Given the description of an element on the screen output the (x, y) to click on. 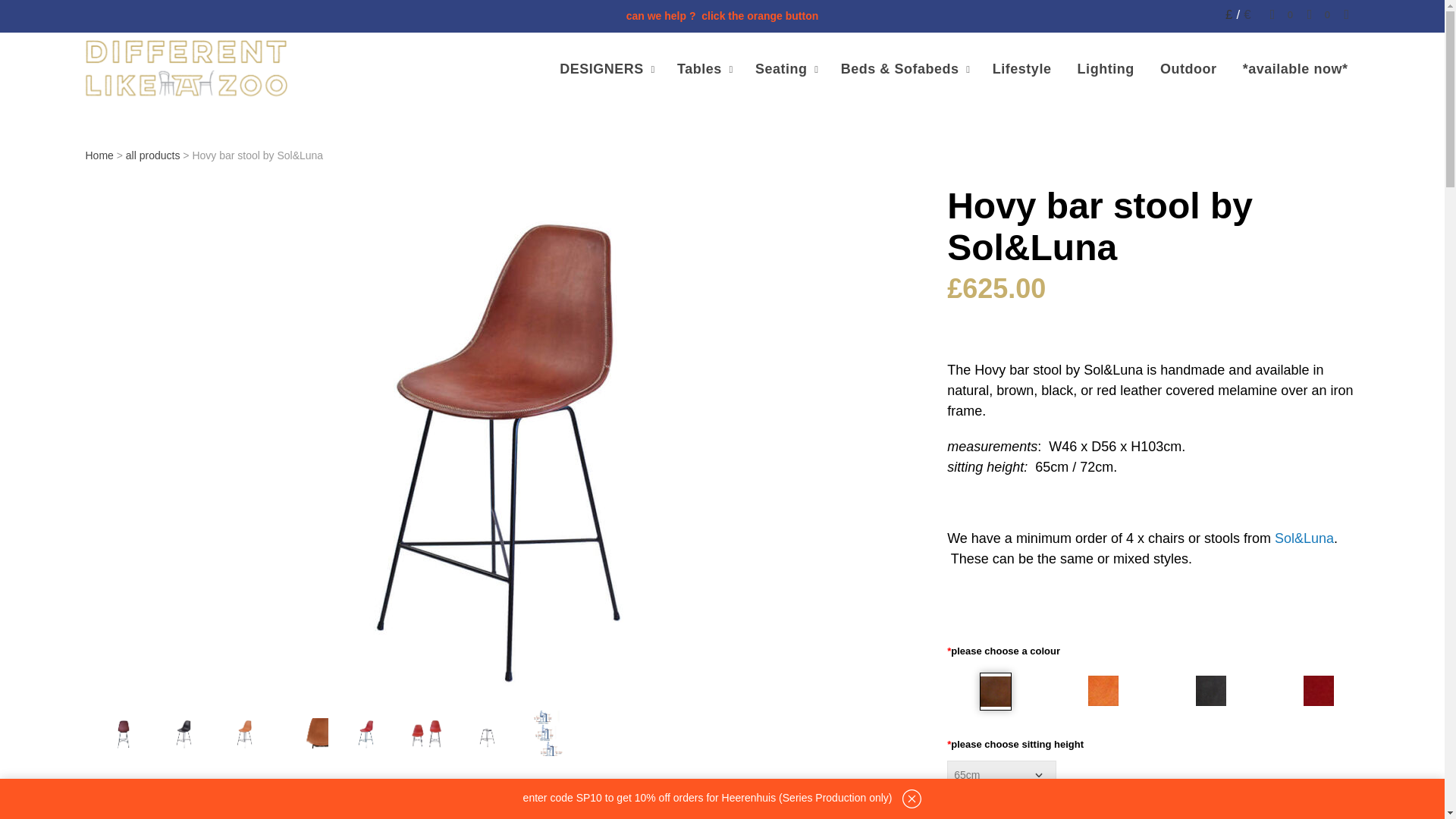
the natural selection for your home (185, 68)
